Given the description of an element on the screen output the (x, y) to click on. 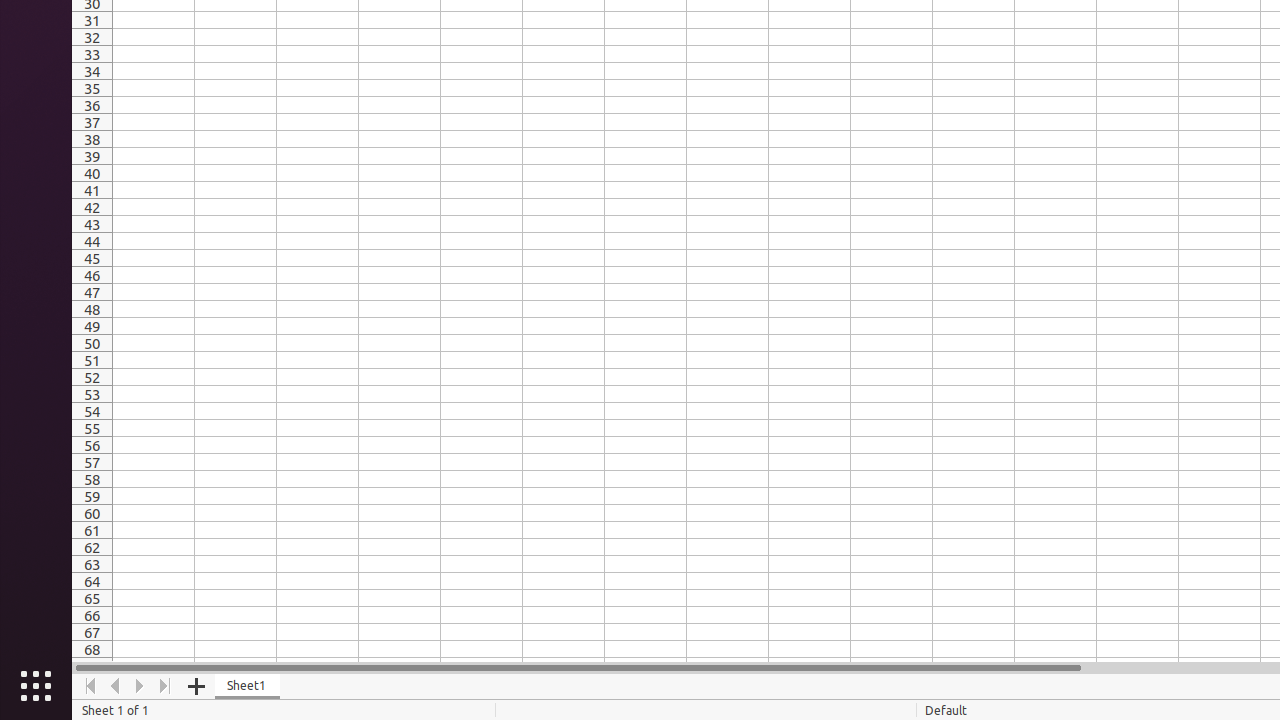
Move Left Element type: push-button (115, 686)
Move To Home Element type: push-button (90, 686)
Move To End Element type: push-button (165, 686)
Show Applications Element type: toggle-button (36, 686)
Move Right Element type: push-button (140, 686)
